Given the description of an element on the screen output the (x, y) to click on. 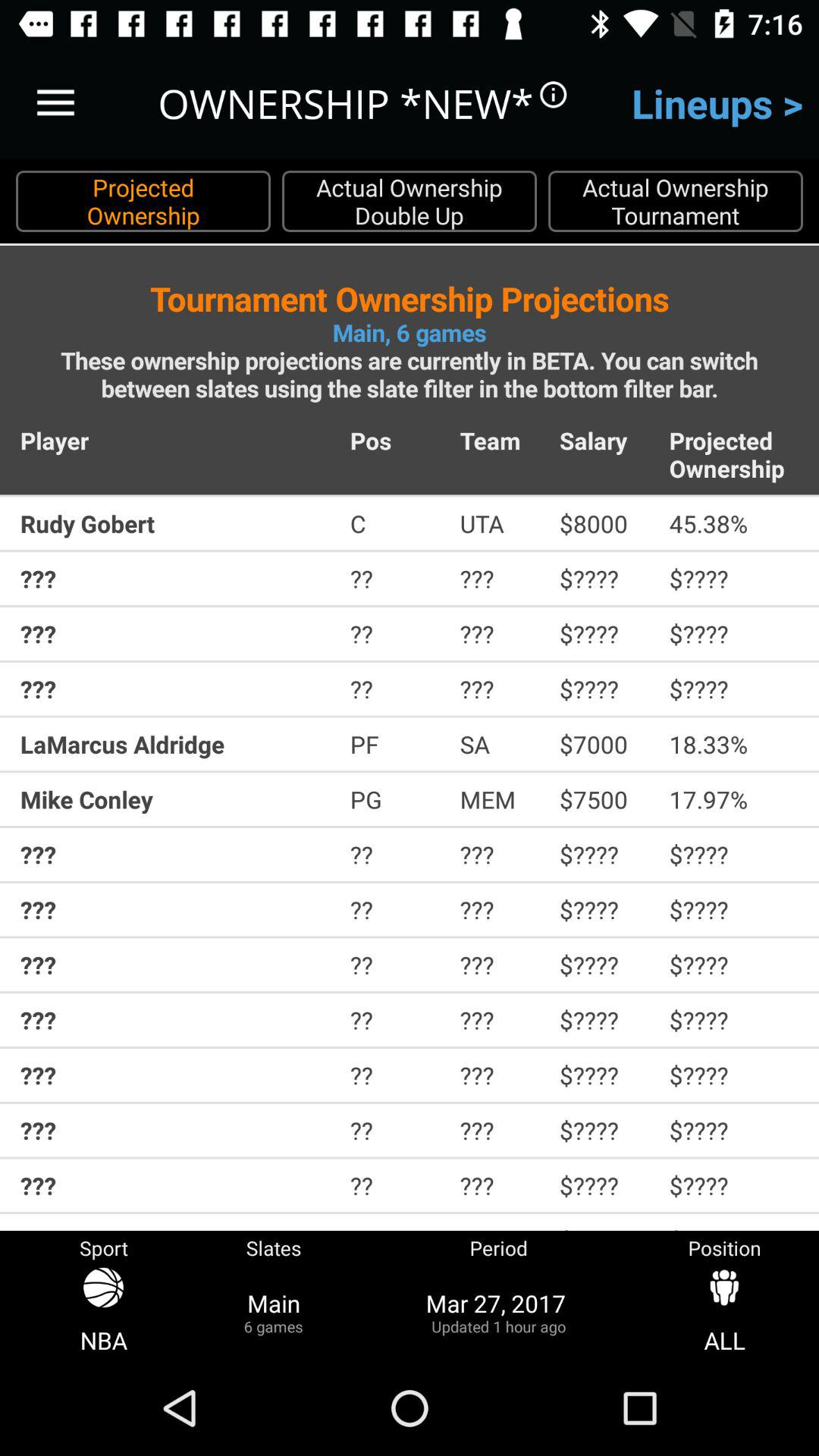
launch icon next to the pg (499, 799)
